Given the description of an element on the screen output the (x, y) to click on. 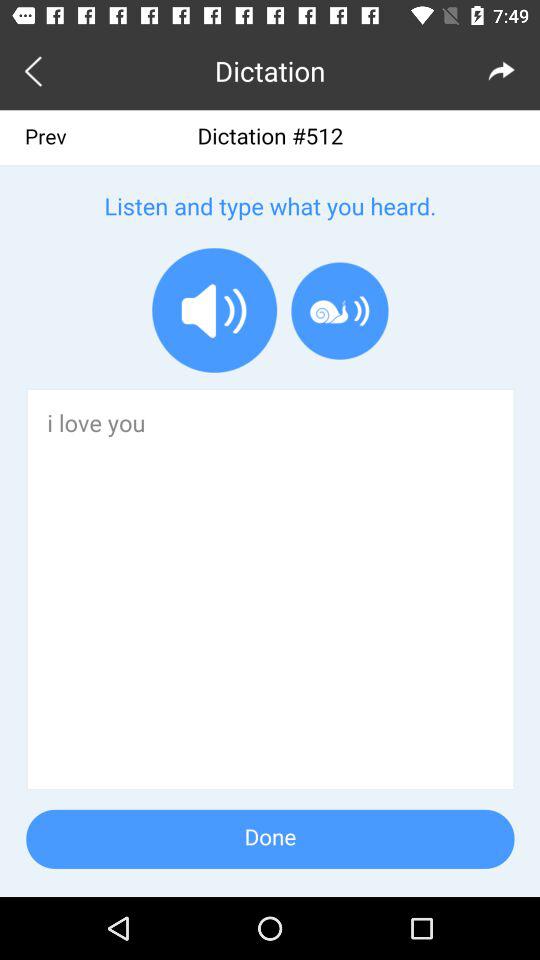
select the nxt option (502, 70)
